Given the description of an element on the screen output the (x, y) to click on. 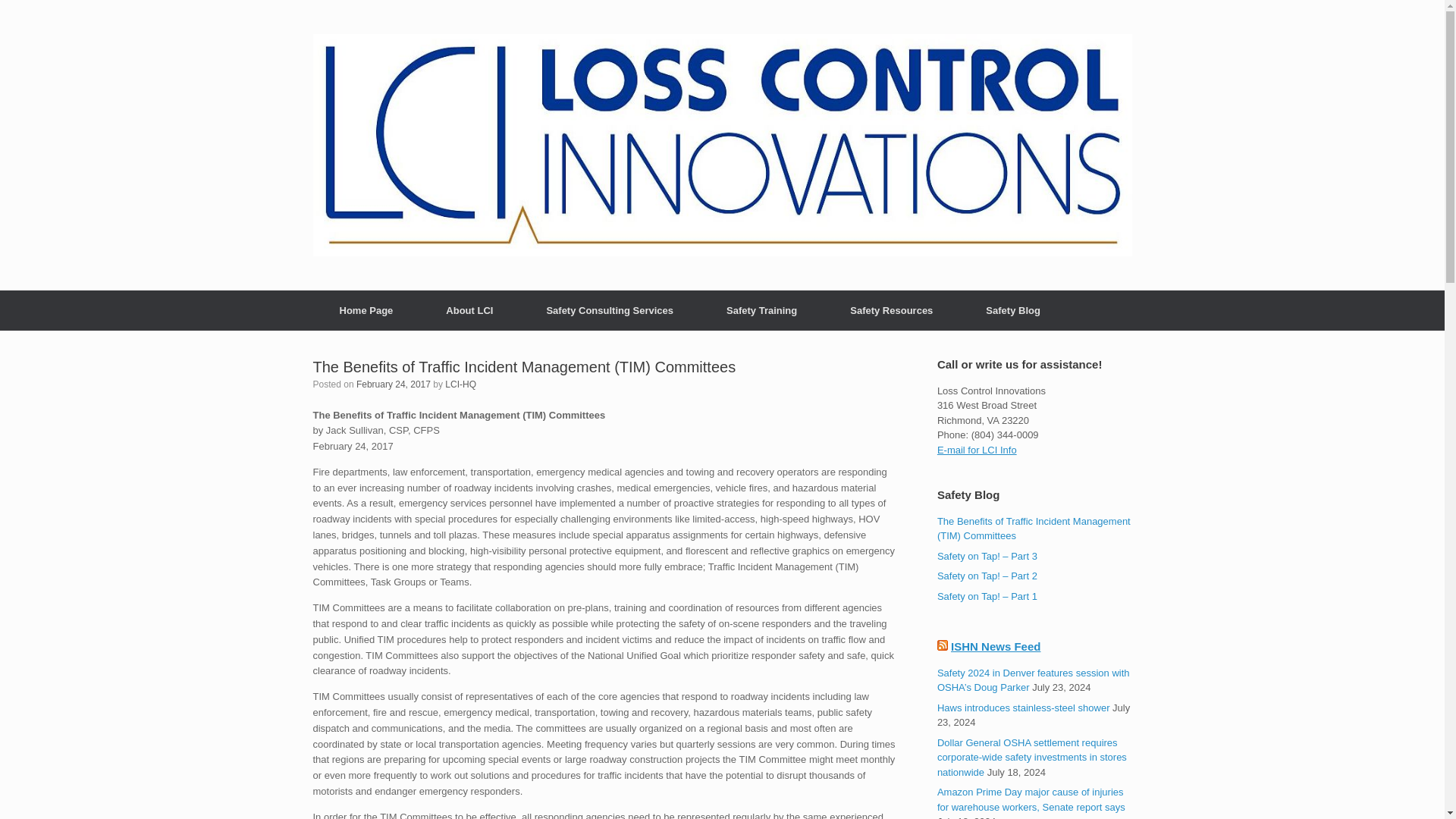
February 24, 2017 (393, 384)
E-mail for LCI Info (976, 449)
View all posts by LCI-HQ (460, 384)
Safety Blog (1013, 310)
3:53 pm (393, 384)
Home Page (366, 310)
LCI-HQ (460, 384)
Haws introduces stainless-steel shower (1023, 707)
Safety Resources (891, 310)
Safety Consulting Services (609, 310)
Safety Training (762, 310)
ISHN News Feed (995, 645)
